Given the description of an element on the screen output the (x, y) to click on. 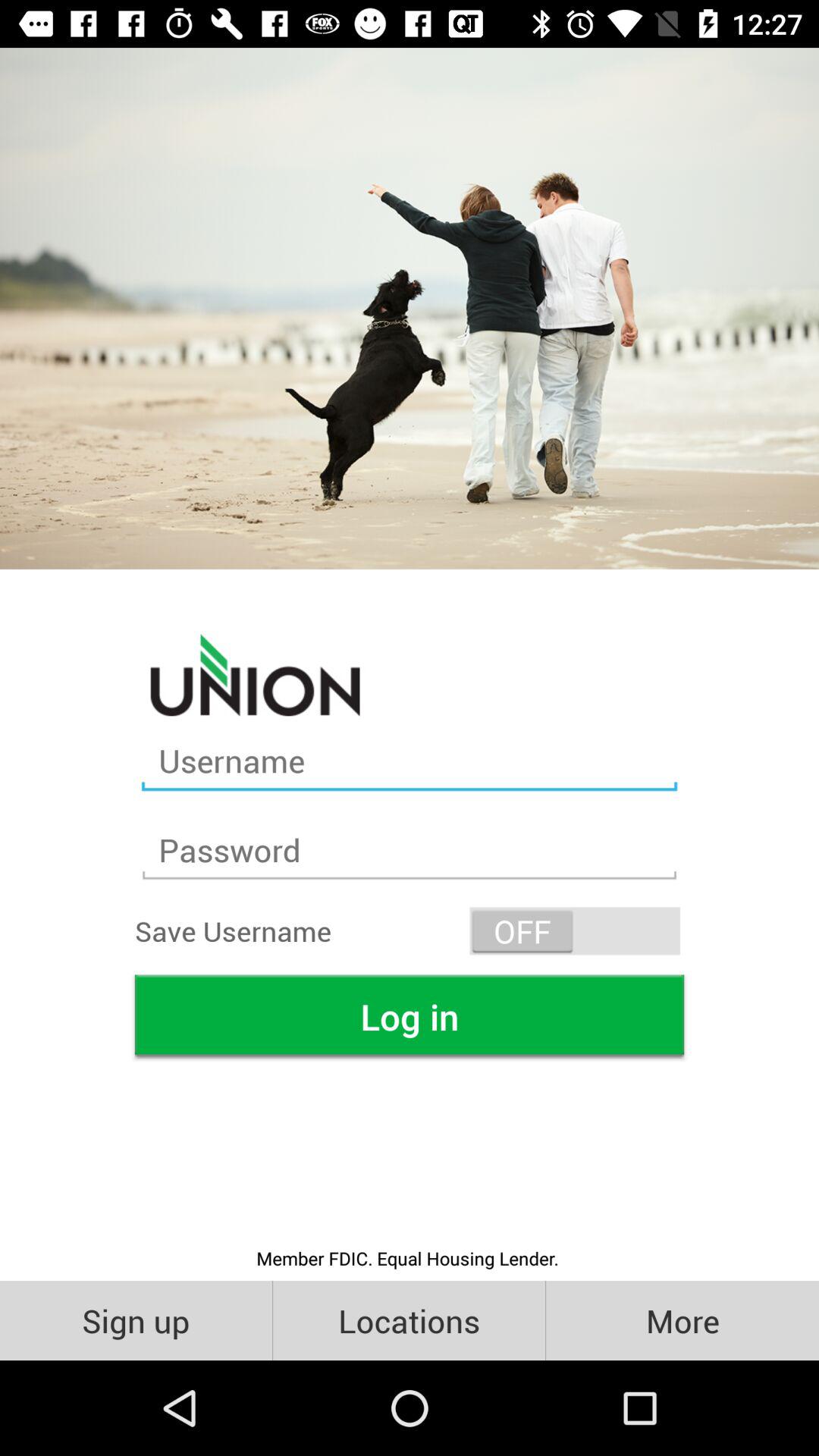
tap icon to the right of save username (574, 930)
